Given the description of an element on the screen output the (x, y) to click on. 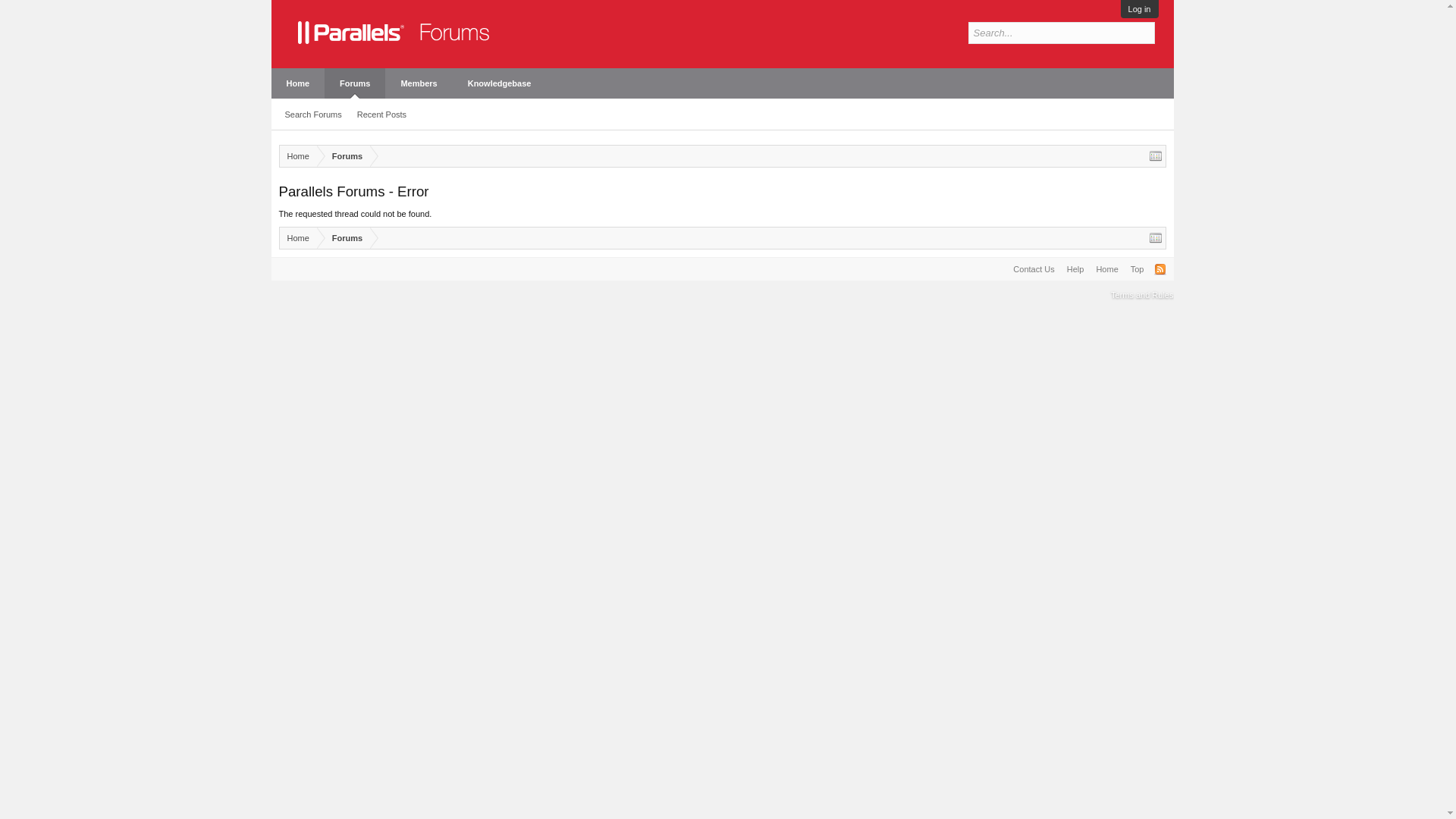
Open quick navigation (1155, 155)
RSS feed for Parallels Forums (1160, 268)
Knowledgebase (499, 82)
Forums (354, 82)
Members (418, 82)
Open quick navigation (1155, 237)
Contact Us (1033, 268)
Top (1137, 268)
Home (297, 238)
Log in (1139, 8)
Forums (343, 156)
Home (297, 156)
Home (297, 82)
Terms and Rules (1141, 294)
Search Forums (313, 114)
